Given the description of an element on the screen output the (x, y) to click on. 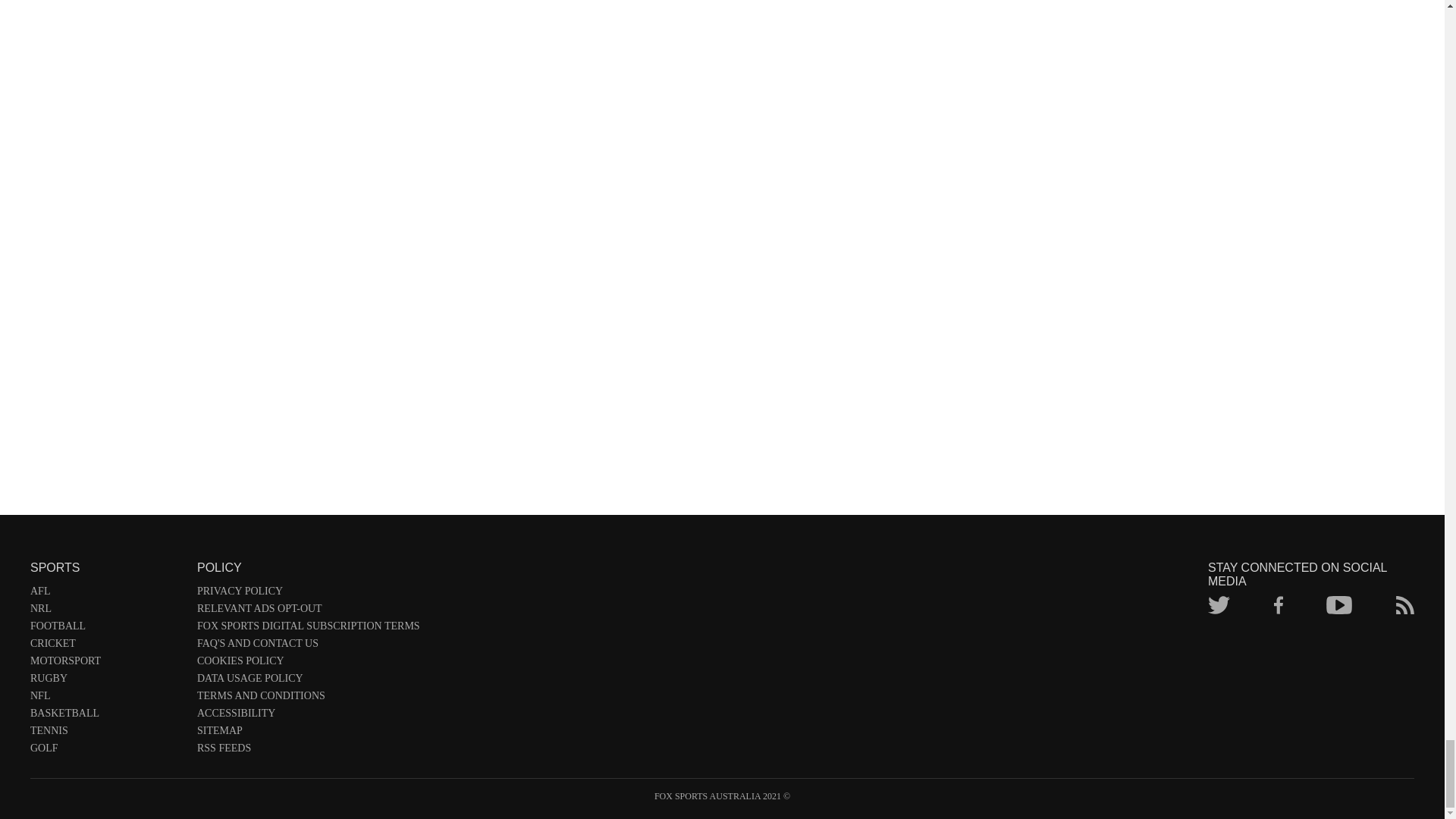
FAQ'S AND CONTACT US (308, 646)
RELEVANT ADS OPT-OUT (308, 610)
NFL (106, 698)
COOKIES POLICY (308, 663)
BASKETBALL (106, 715)
MOTORSPORT (106, 663)
CRICKET (106, 646)
PRIVACY POLICY (308, 593)
ACCESSIBILITY (308, 715)
DATA USAGE POLICY (308, 681)
RUGBY (106, 681)
NRL (106, 610)
TENNIS (106, 733)
FOX SPORTS DIGITAL SUBSCRIPTION TERMS (308, 628)
TERMS AND CONDITIONS (308, 698)
